Given the description of an element on the screen output the (x, y) to click on. 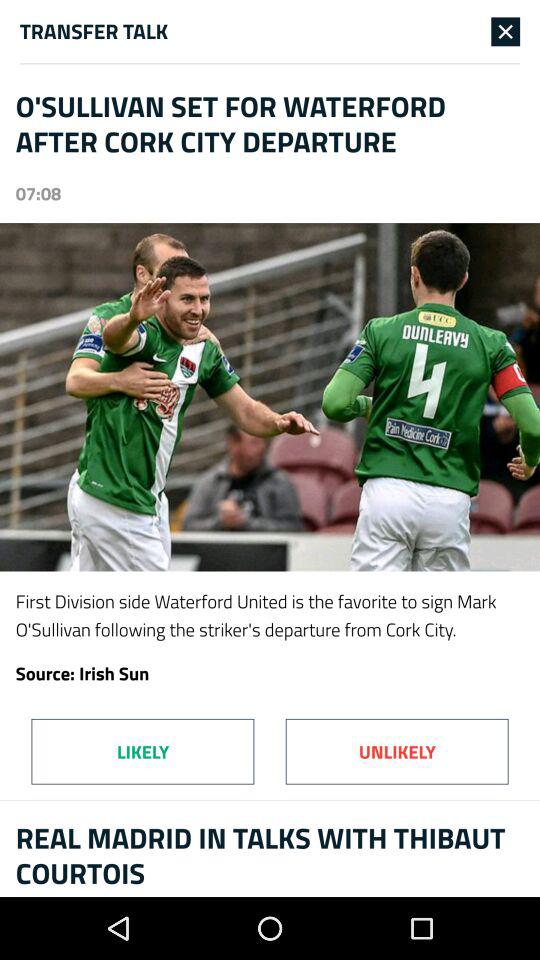
choose icon at the top right corner (505, 31)
